Given the description of an element on the screen output the (x, y) to click on. 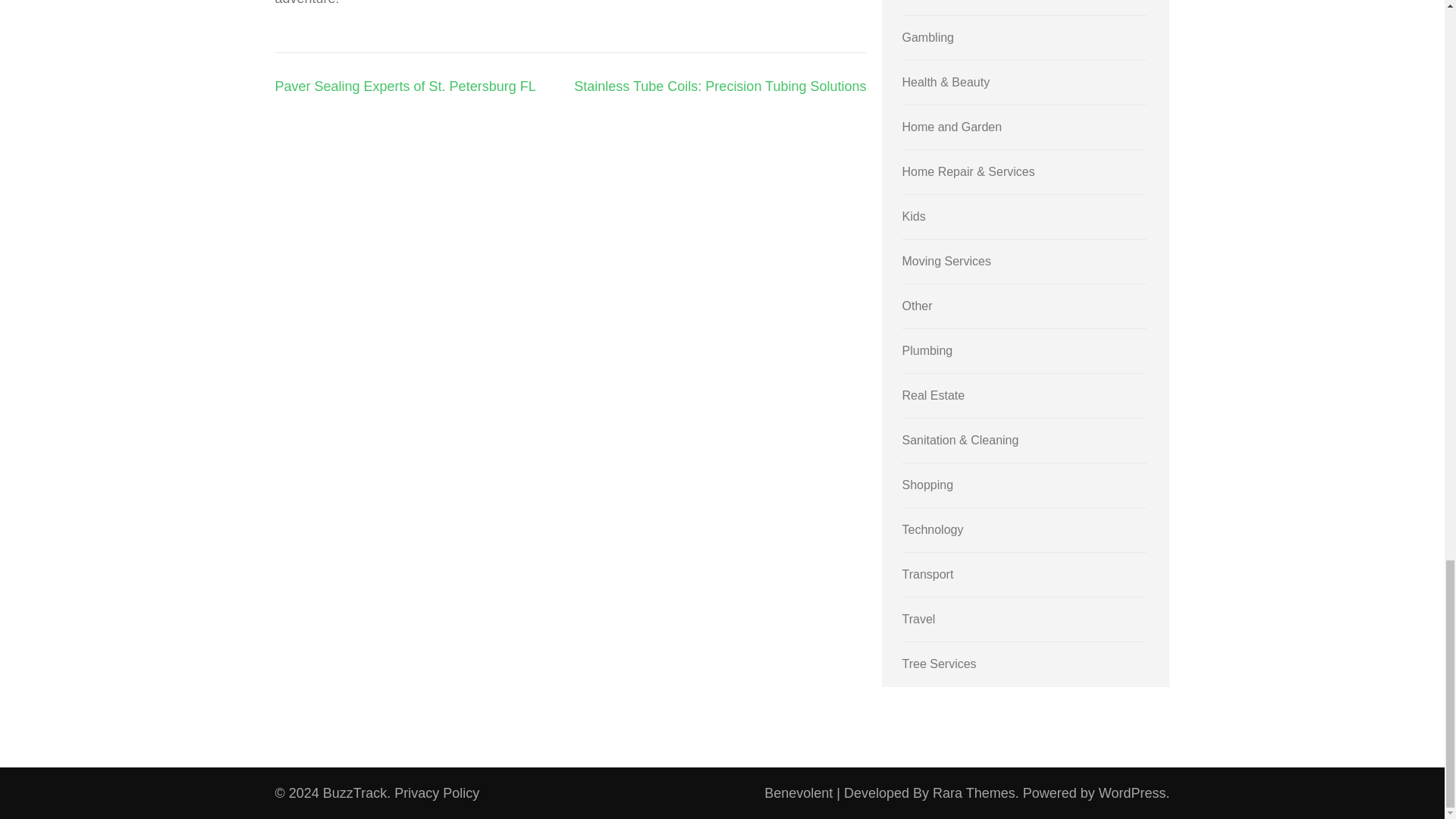
Stainless Tube Coils: Precision Tubing Solutions (719, 86)
Paver Sealing Experts of St. Petersburg FL (405, 86)
